Given the description of an element on the screen output the (x, y) to click on. 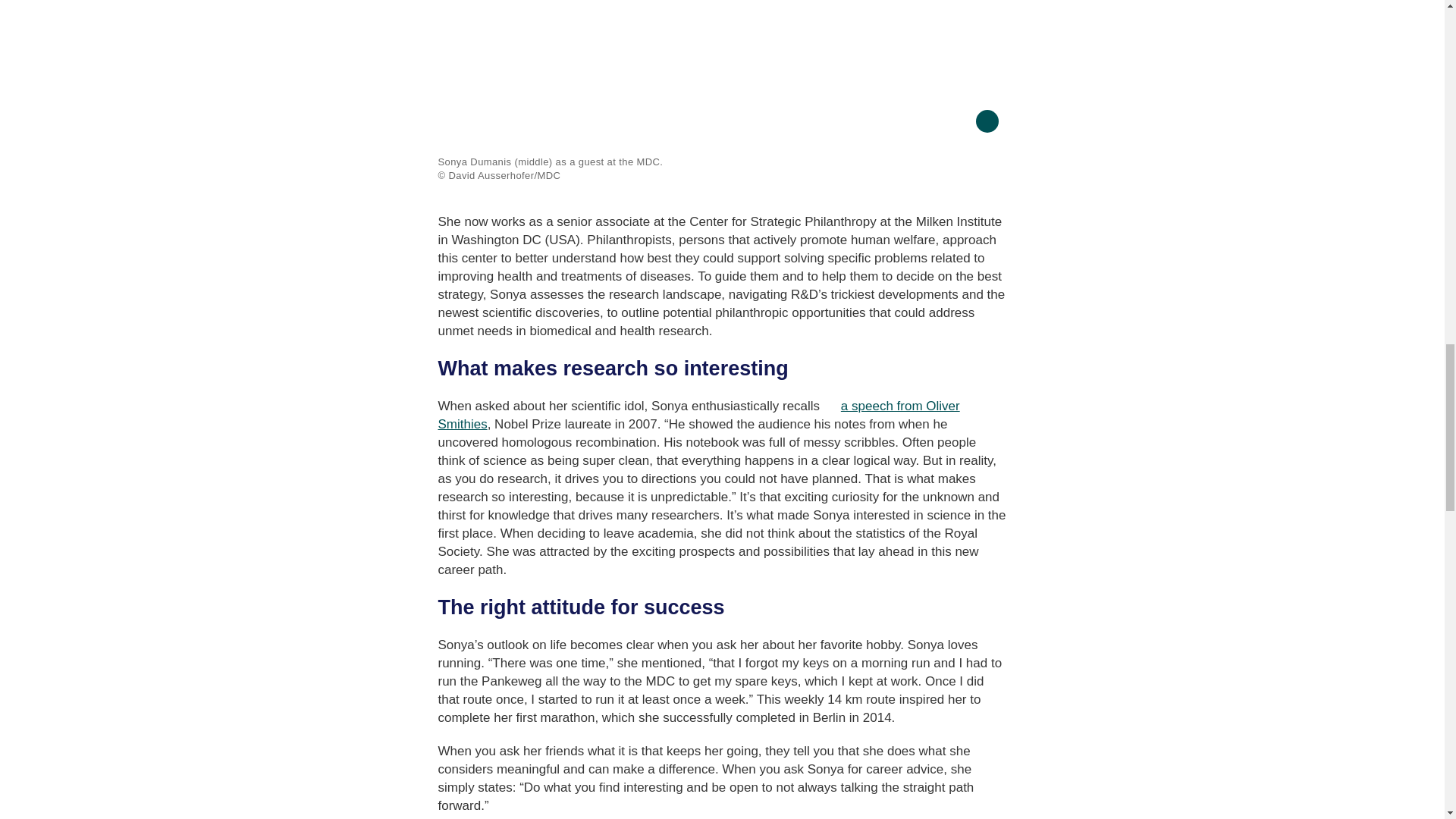
Click to enlarge (722, 70)
